Given the description of an element on the screen output the (x, y) to click on. 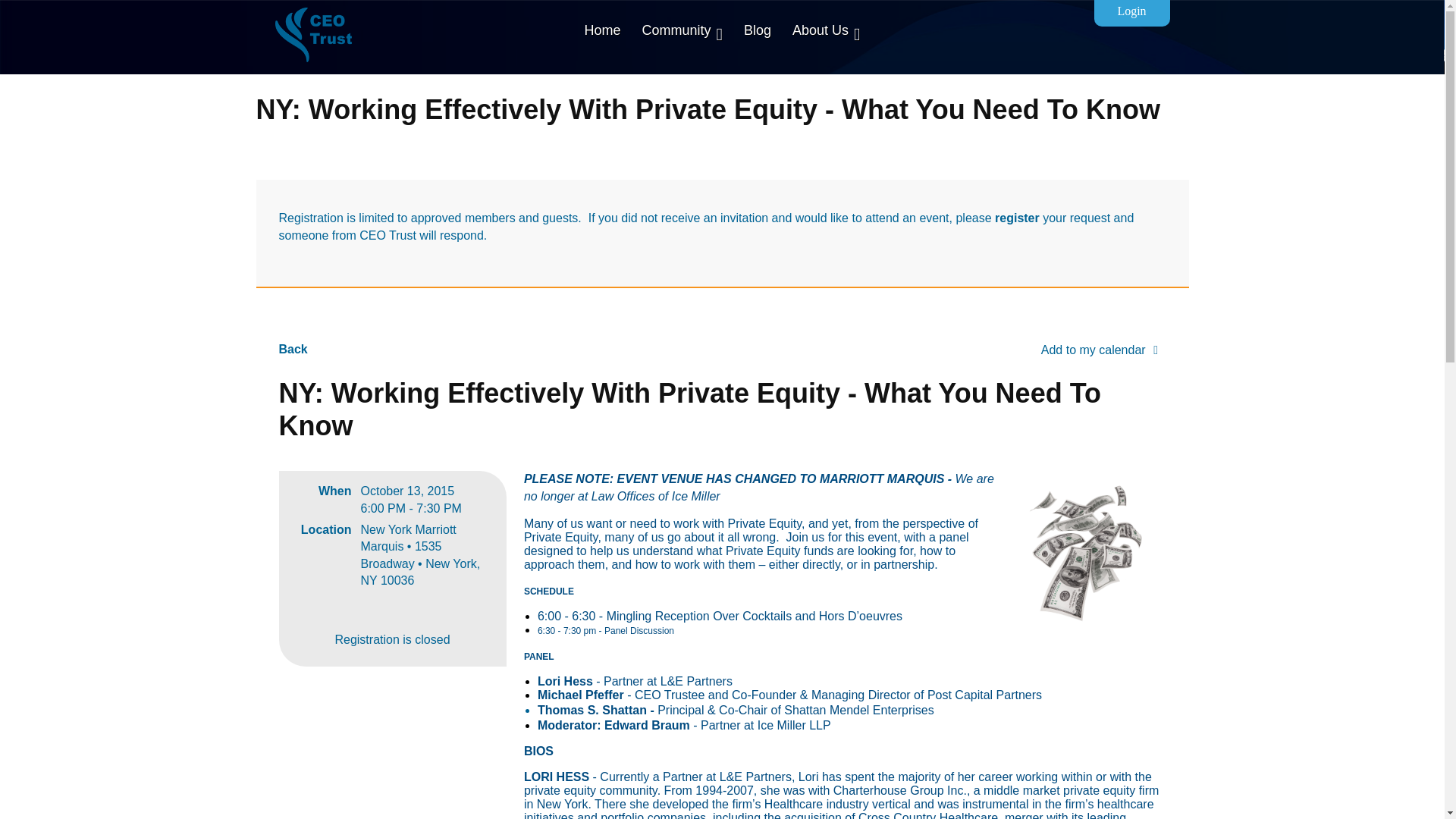
About Us (825, 30)
CEO Trust (312, 34)
Blog (757, 30)
Back (293, 349)
register (1016, 217)
Log in (1131, 13)
Home (602, 30)
Community (682, 30)
